Given the description of an element on the screen output the (x, y) to click on. 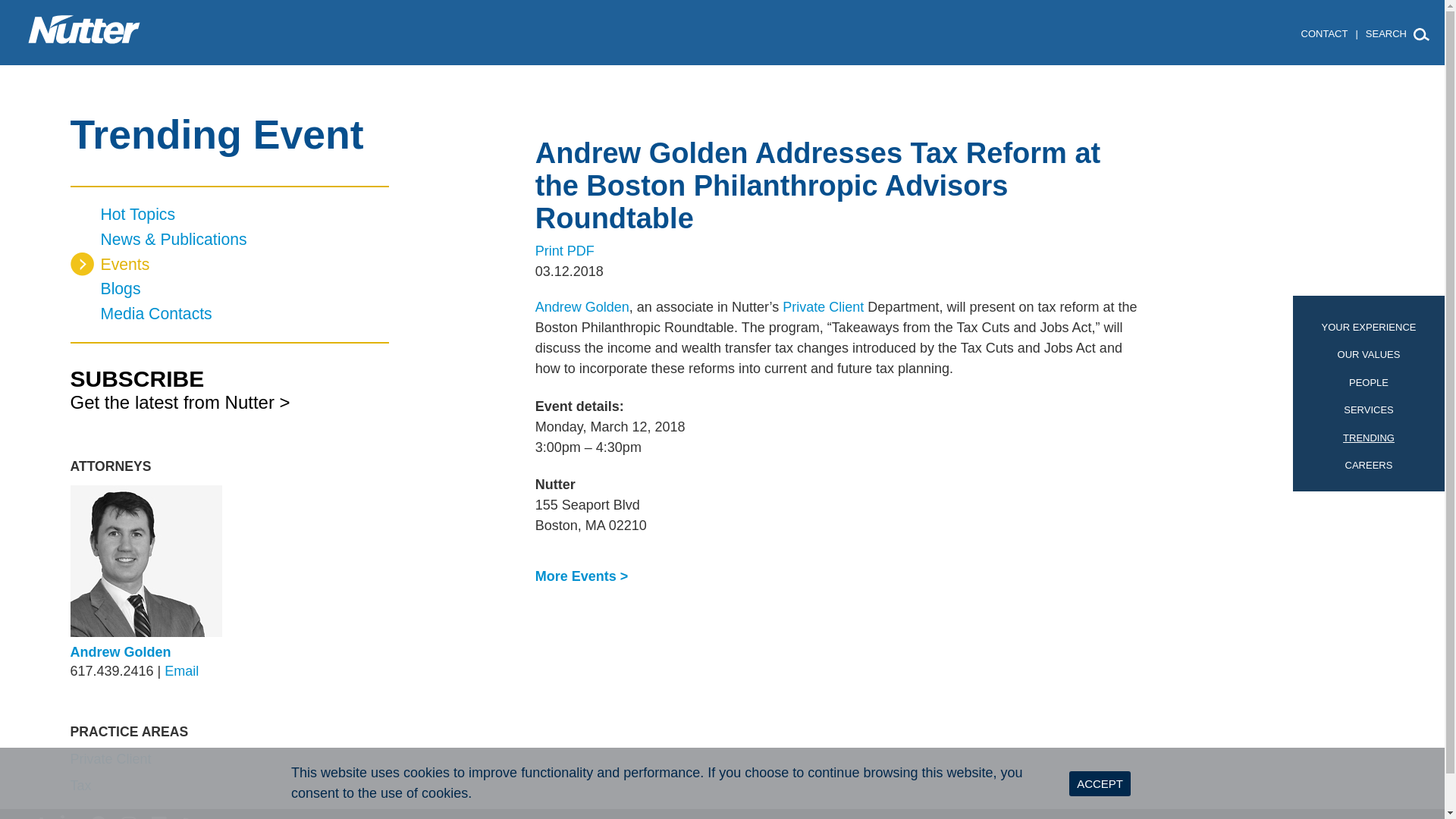
Email (181, 670)
Media Contacts (228, 314)
Private Client (110, 758)
Private Client (823, 306)
Blogs (228, 289)
Andrew Golden (119, 652)
Events (228, 264)
LinkedIn (68, 814)
Facebook (159, 814)
